Given the description of an element on the screen output the (x, y) to click on. 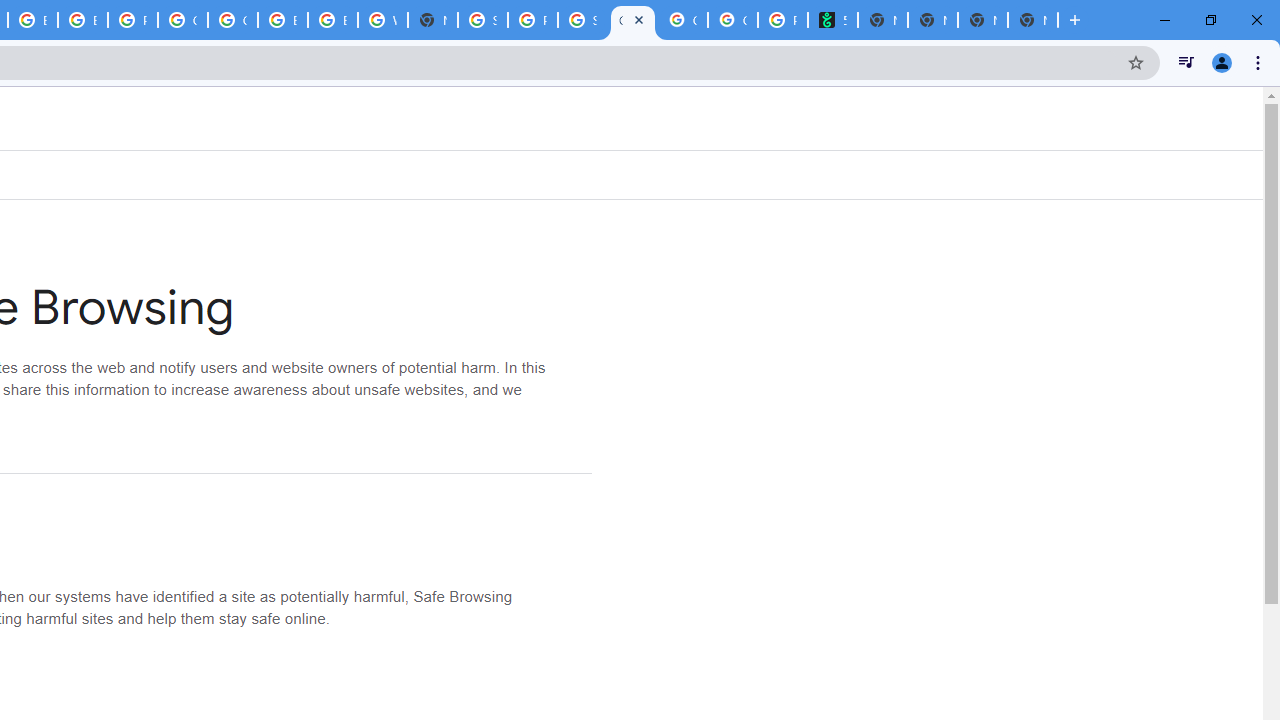
Control your music, videos, and more (1185, 62)
Sign in - Google Accounts (483, 20)
Google Cloud Platform (232, 20)
